Given the description of an element on the screen output the (x, y) to click on. 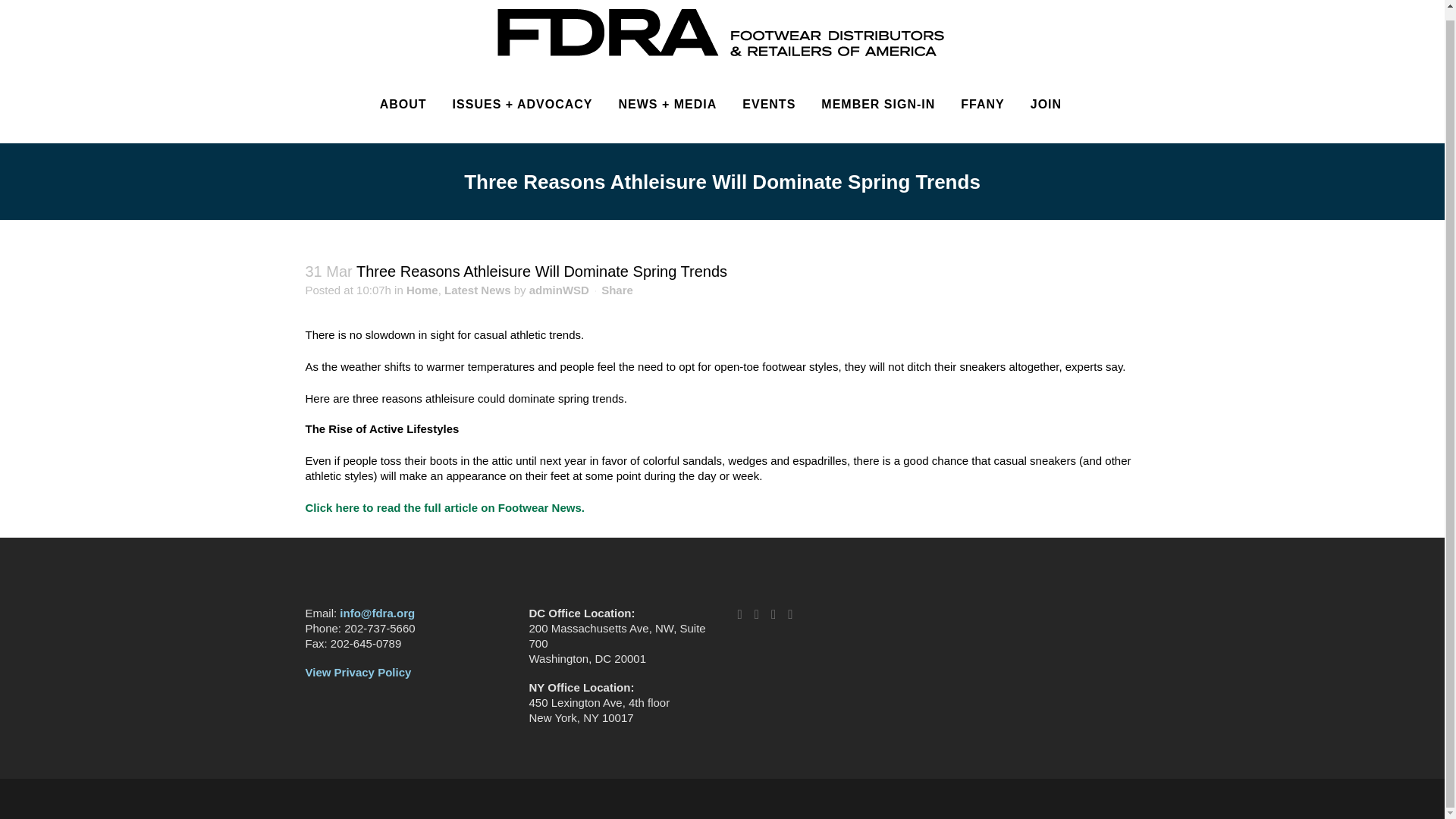
MEMBER SIGN-IN (877, 104)
EVENTS (768, 104)
ABOUT (402, 104)
FFANY (981, 104)
